Given the description of an element on the screen output the (x, y) to click on. 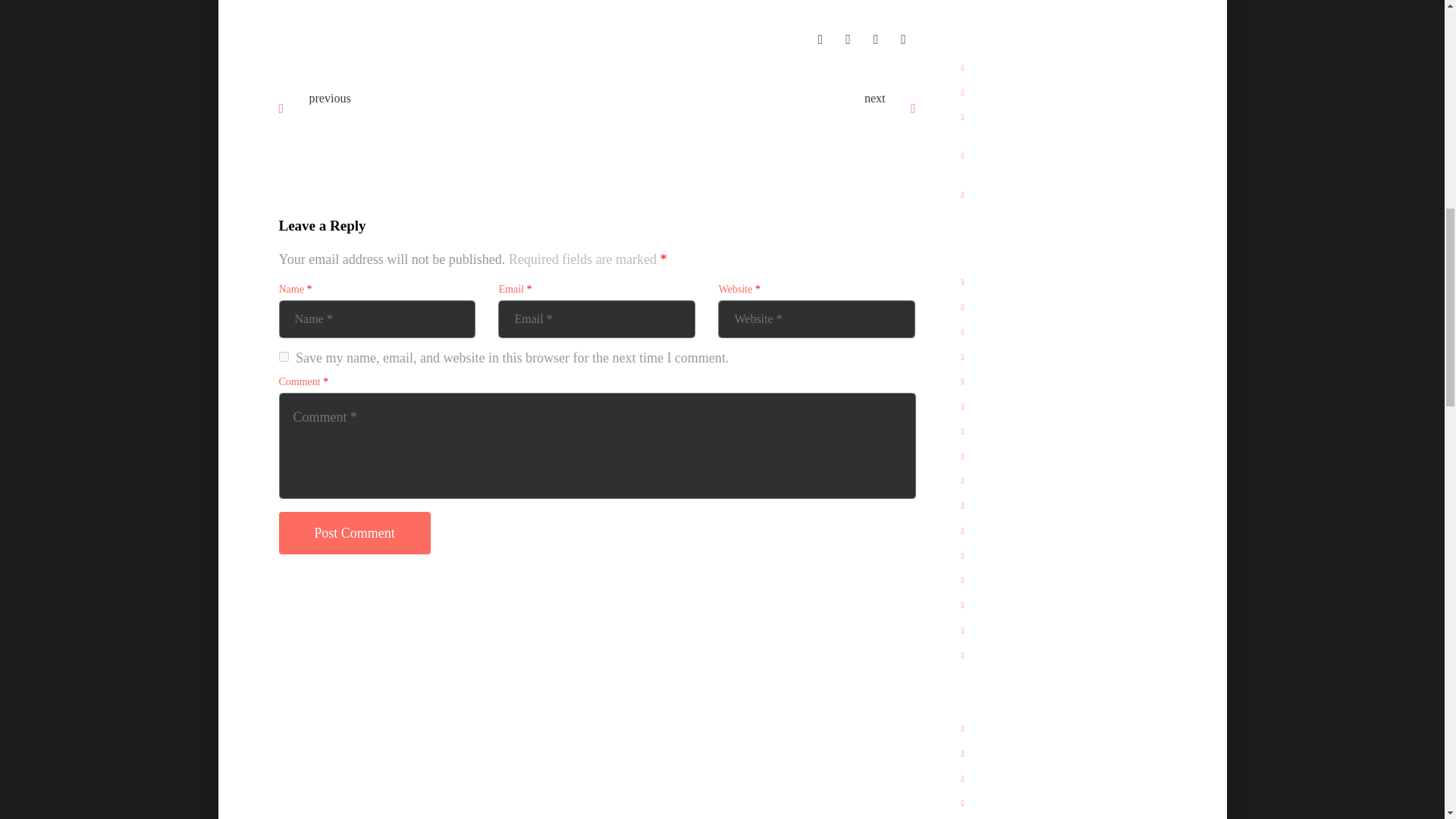
Logowanie I Rejestracja W Kasynie Onlin (748, 109)
LinkedIn (875, 38)
Post Comment (354, 532)
yes (283, 356)
Twitter (847, 38)
previous (329, 97)
Post Comment (354, 532)
Vulkan Vegas Bonus Code 2023 Aktionscode 50 Freispiel (447, 114)
Reddit (903, 38)
next (874, 97)
